Given the description of an element on the screen output the (x, y) to click on. 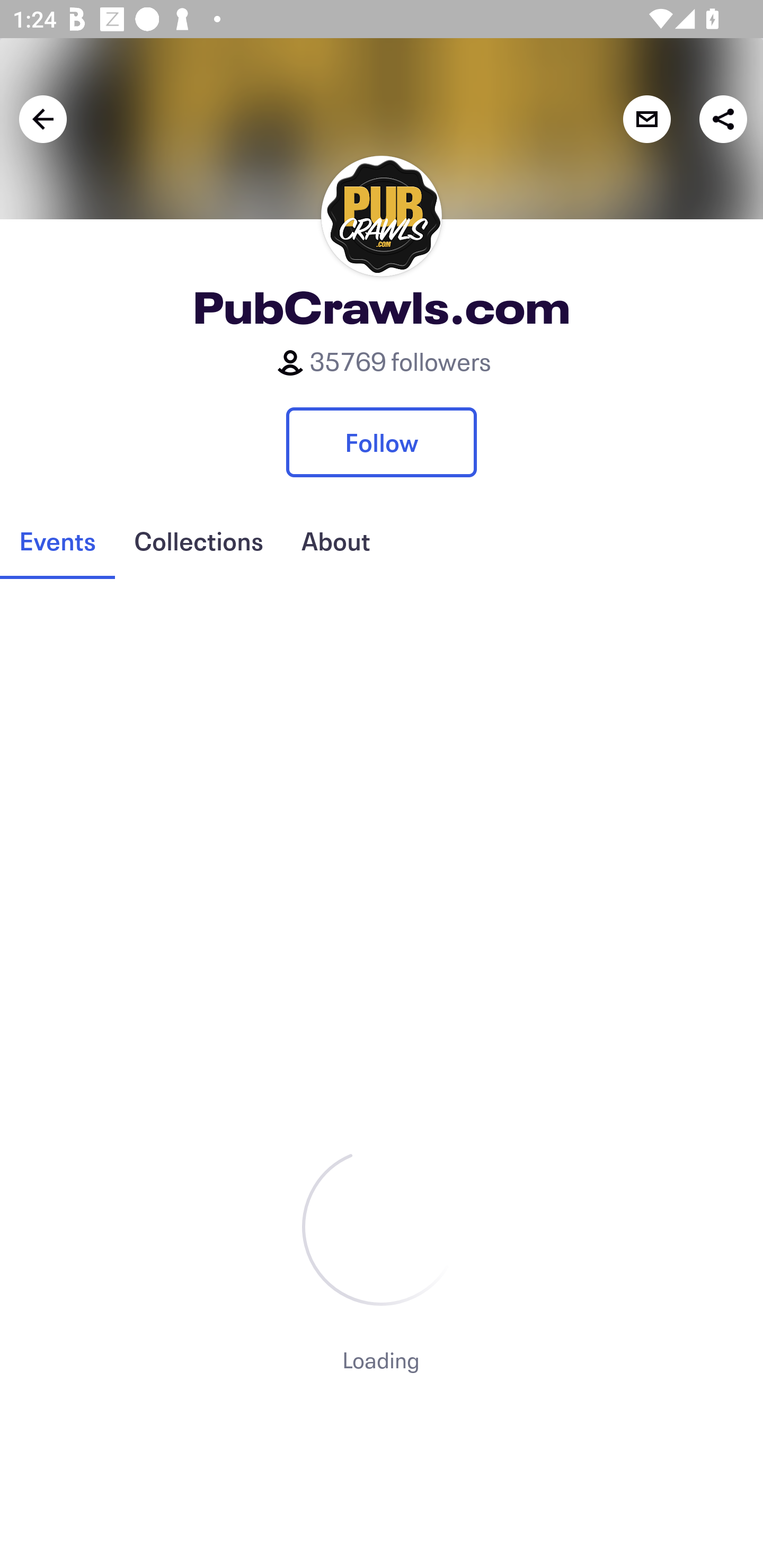
Back navigation arrow (43, 118)
Contact organizer (646, 118)
Share with friends (722, 118)
Follow (381, 441)
Collections (198, 540)
About (335, 540)
